Given the description of an element on the screen output the (x, y) to click on. 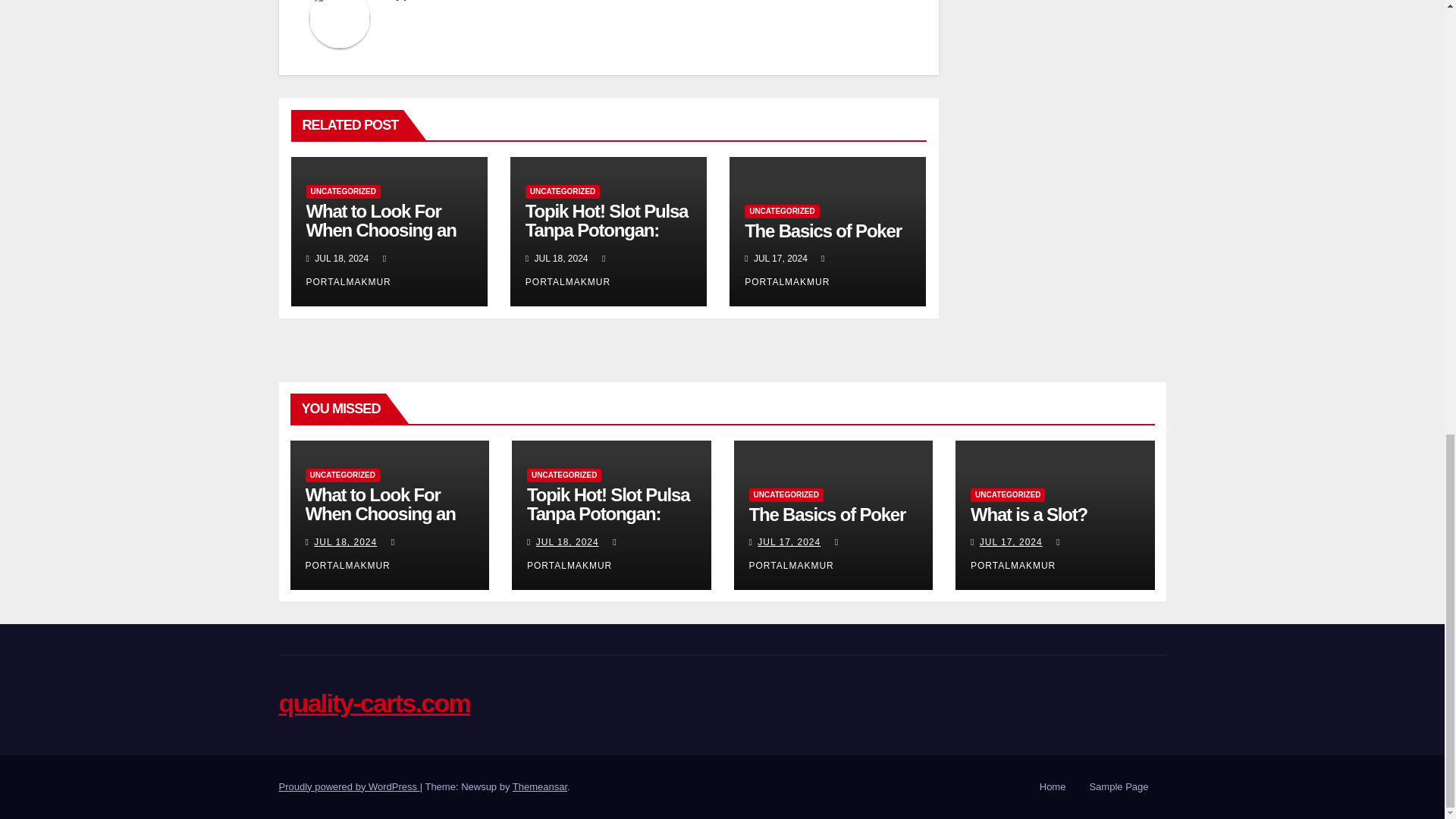
Permalink to: What is a Slot? (1029, 514)
Permalink to: The Basics of Poker (822, 230)
UNCATEGORIZED (562, 192)
PORTALMAKMUR (567, 270)
Permalink to: What to Look For When Choosing an Online Slot (381, 229)
Permalink to: What to Look For When Choosing an Online Slot (379, 513)
portalmakmur (435, 0)
PORTALMAKMUR (786, 270)
UNCATEGORIZED (342, 192)
Permalink to: The Basics of Poker (827, 514)
What to Look For When Choosing an Online Slot (381, 229)
Home (1052, 786)
UNCATEGORIZED (781, 211)
